Given the description of an element on the screen output the (x, y) to click on. 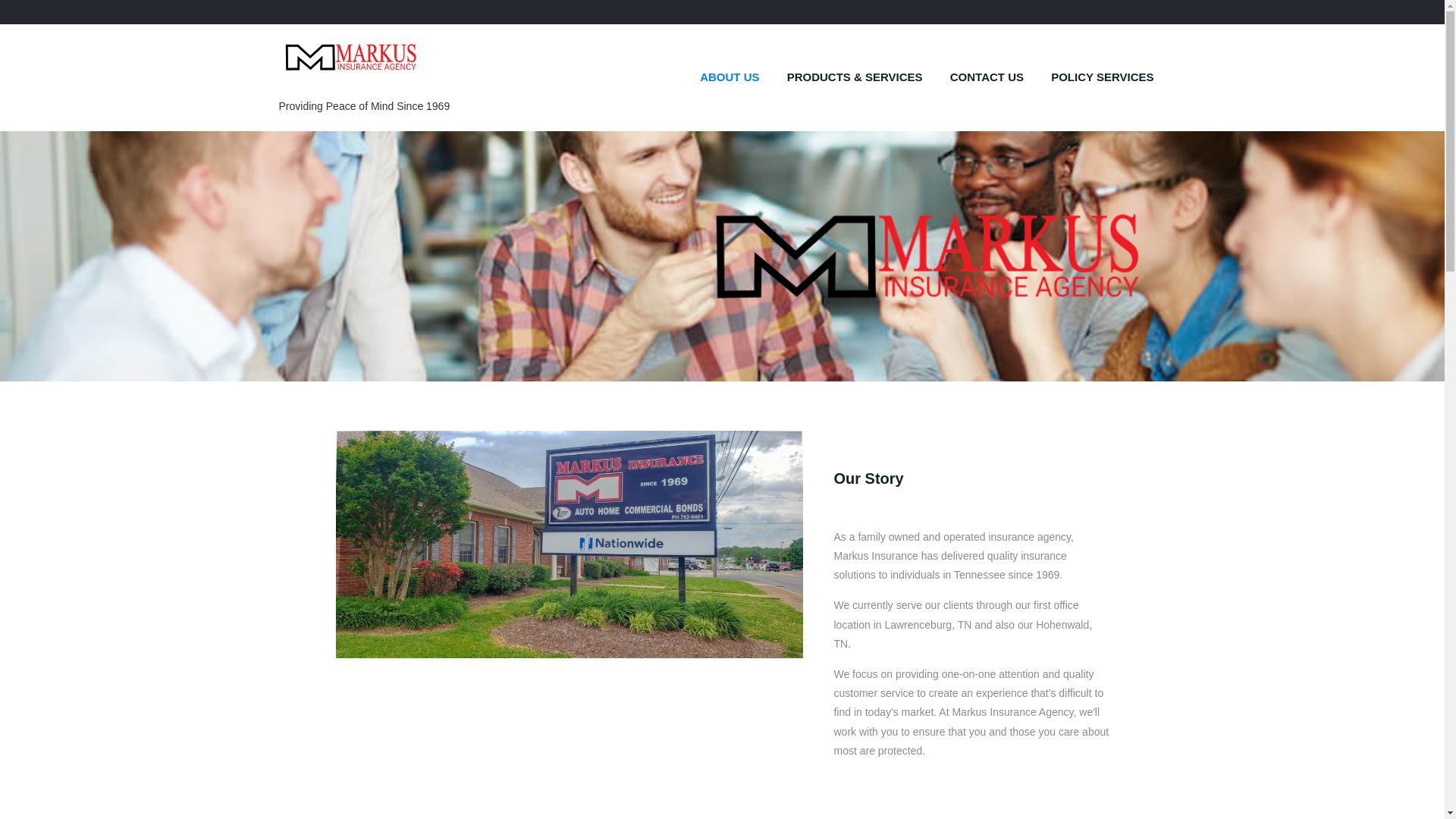
POLICY SERVICES (1102, 77)
ABOUT US (729, 77)
CONTACT US (986, 77)
